Given the description of an element on the screen output the (x, y) to click on. 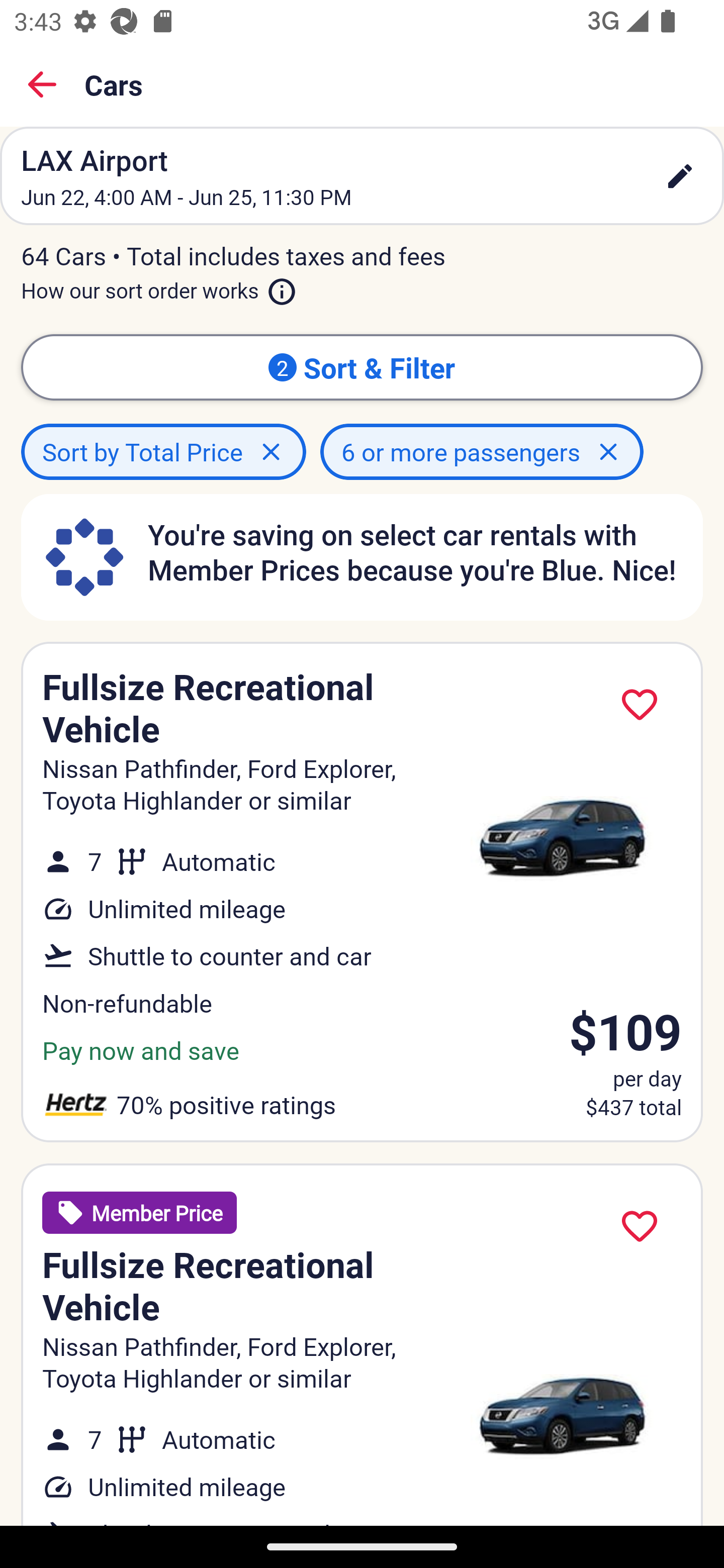
Back (42, 84)
edit (679, 175)
2 Sort & Filter (361, 366)
